Given the description of an element on the screen output the (x, y) to click on. 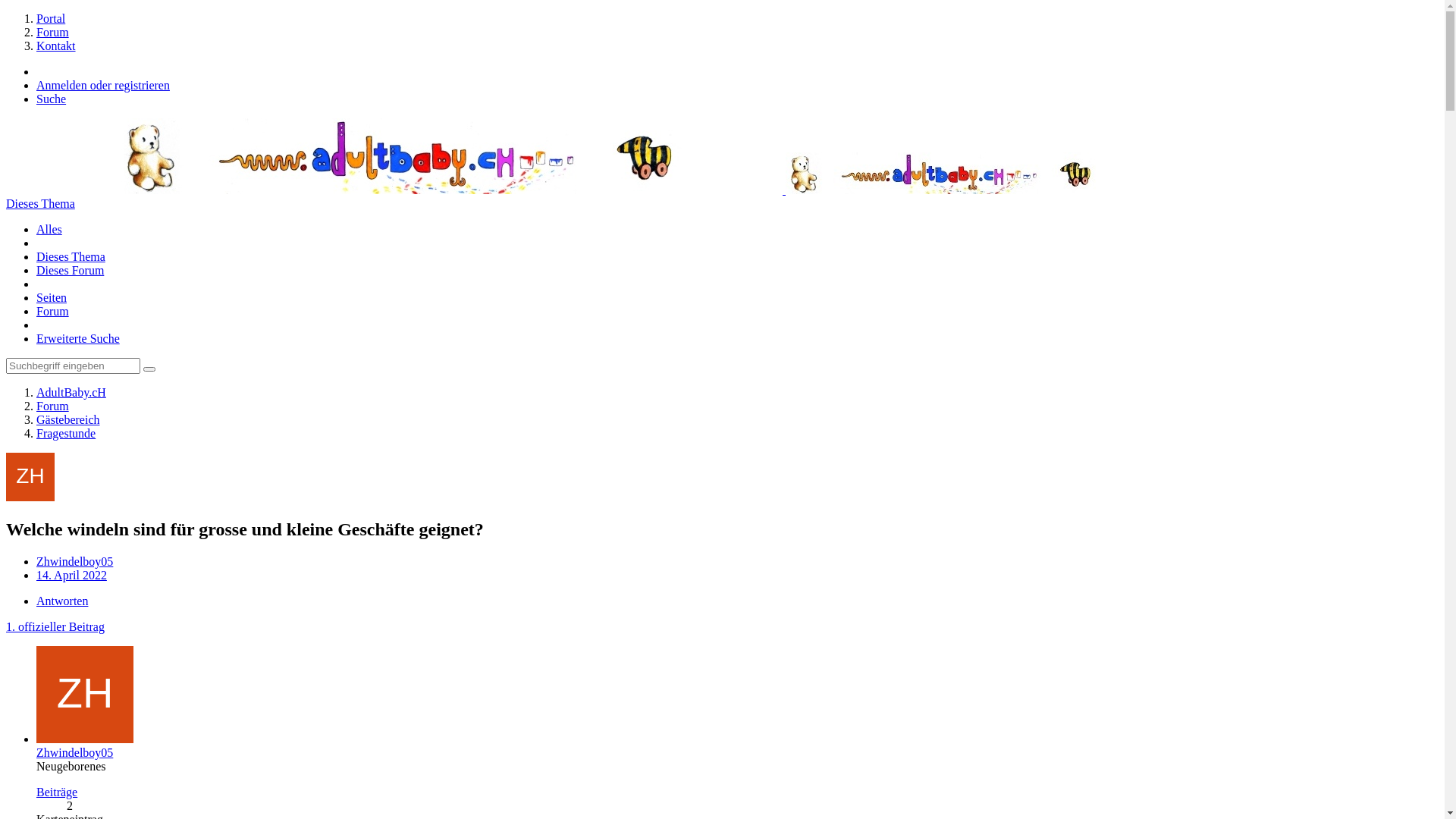
Zhwindelboy05 Element type: text (74, 561)
Portal Element type: text (50, 18)
Antworten Element type: text (61, 600)
Seiten Element type: text (51, 297)
Dieses Forum Element type: text (69, 269)
Dieses Thema Element type: text (70, 256)
Suche Element type: text (50, 98)
Erweiterte Suche Element type: text (77, 338)
Forum Element type: text (52, 310)
AdultBaby.cH Element type: text (71, 391)
Dieses Thema Element type: text (40, 203)
14. April 2022 Element type: text (71, 574)
Forum Element type: text (52, 405)
Forum Element type: text (52, 31)
Zhwindelboy05 Element type: text (74, 752)
Kontakt Element type: text (55, 45)
Fragestunde Element type: text (65, 432)
Anmelden oder registrieren Element type: text (102, 84)
Alles Element type: text (49, 228)
1. offizieller Beitrag Element type: text (55, 626)
